Given the description of an element on the screen output the (x, y) to click on. 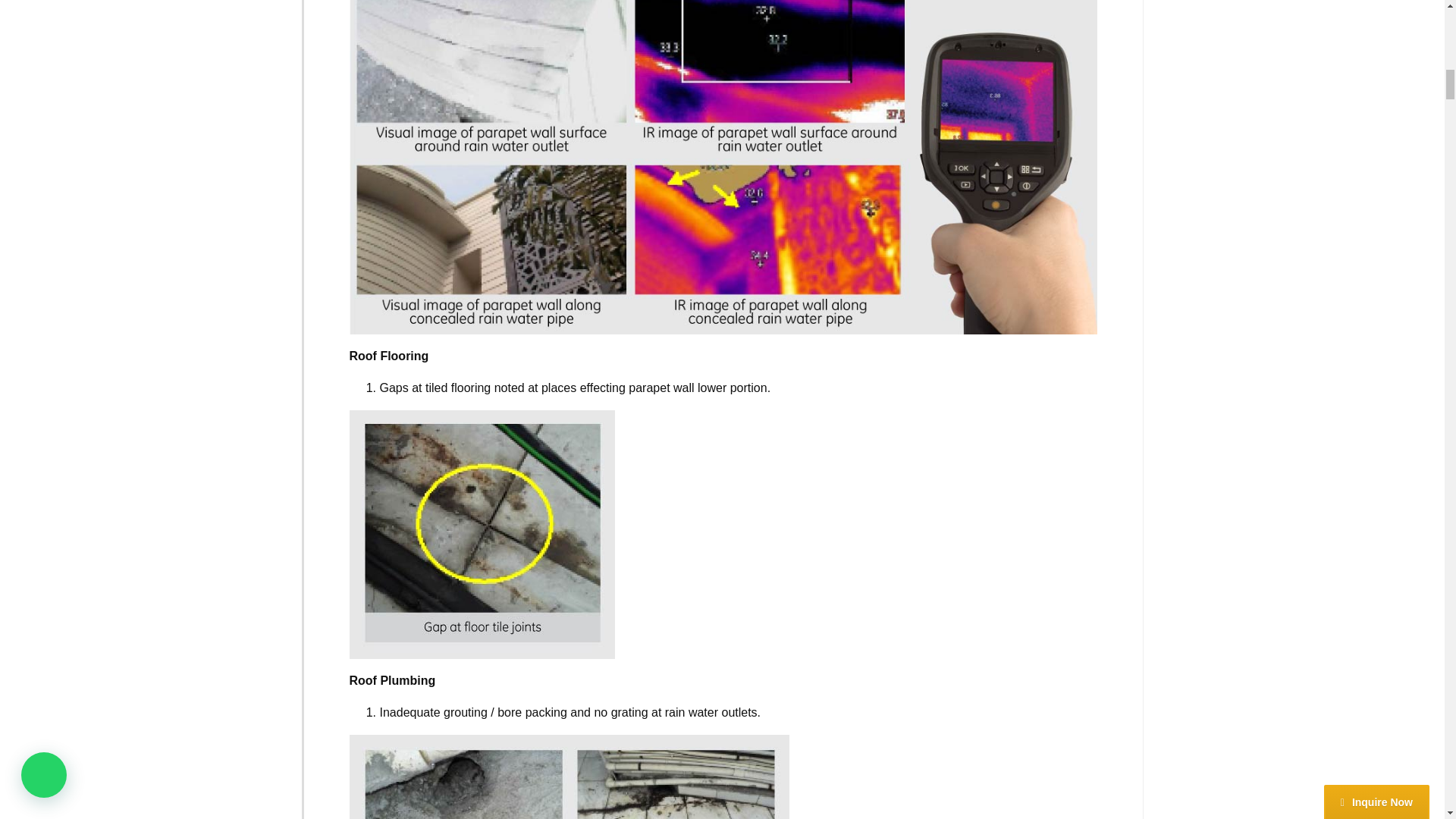
Banner-06 (481, 534)
Banner-05 (569, 776)
